Given the description of an element on the screen output the (x, y) to click on. 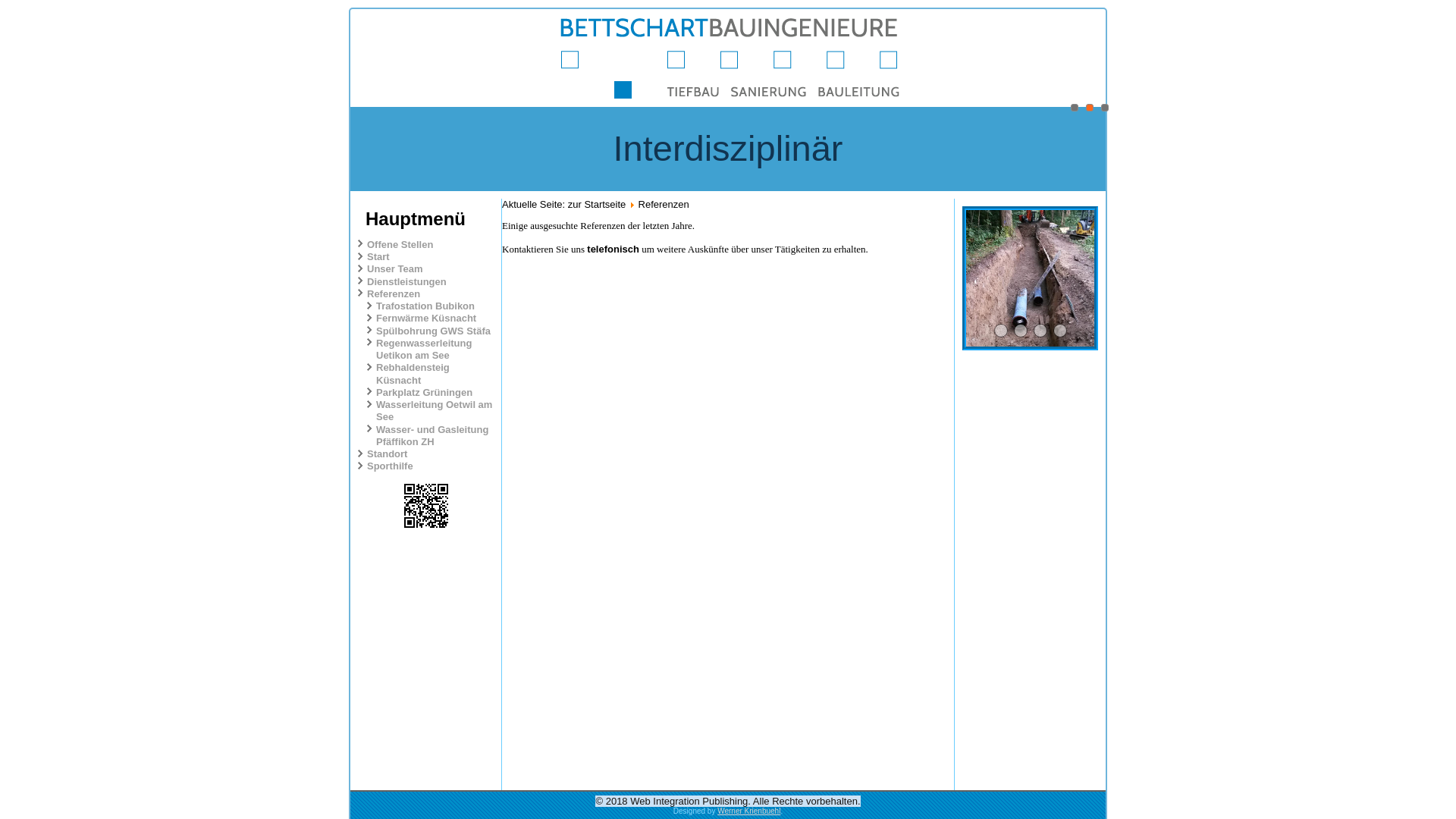
Sporthilfe Element type: text (390, 465)
Offene Stellen Element type: text (400, 244)
Dienstleistungen Element type: text (406, 281)
Standort Element type: text (387, 453)
zur Startseite Element type: text (596, 204)
Wasserleitung Oetwil am See Element type: text (434, 410)
Referenzen Element type: text (393, 293)
QR-Code Element type: hover (425, 505)
Trafostation Bubikon Element type: text (425, 305)
Regenwasserleitung Uetikon am See Element type: text (423, 348)
telefonisch Element type: text (612, 248)
Start Element type: text (378, 256)
Unser Team Element type: text (394, 268)
Werner Krienbuehl Element type: text (748, 810)
